Given the description of an element on the screen output the (x, y) to click on. 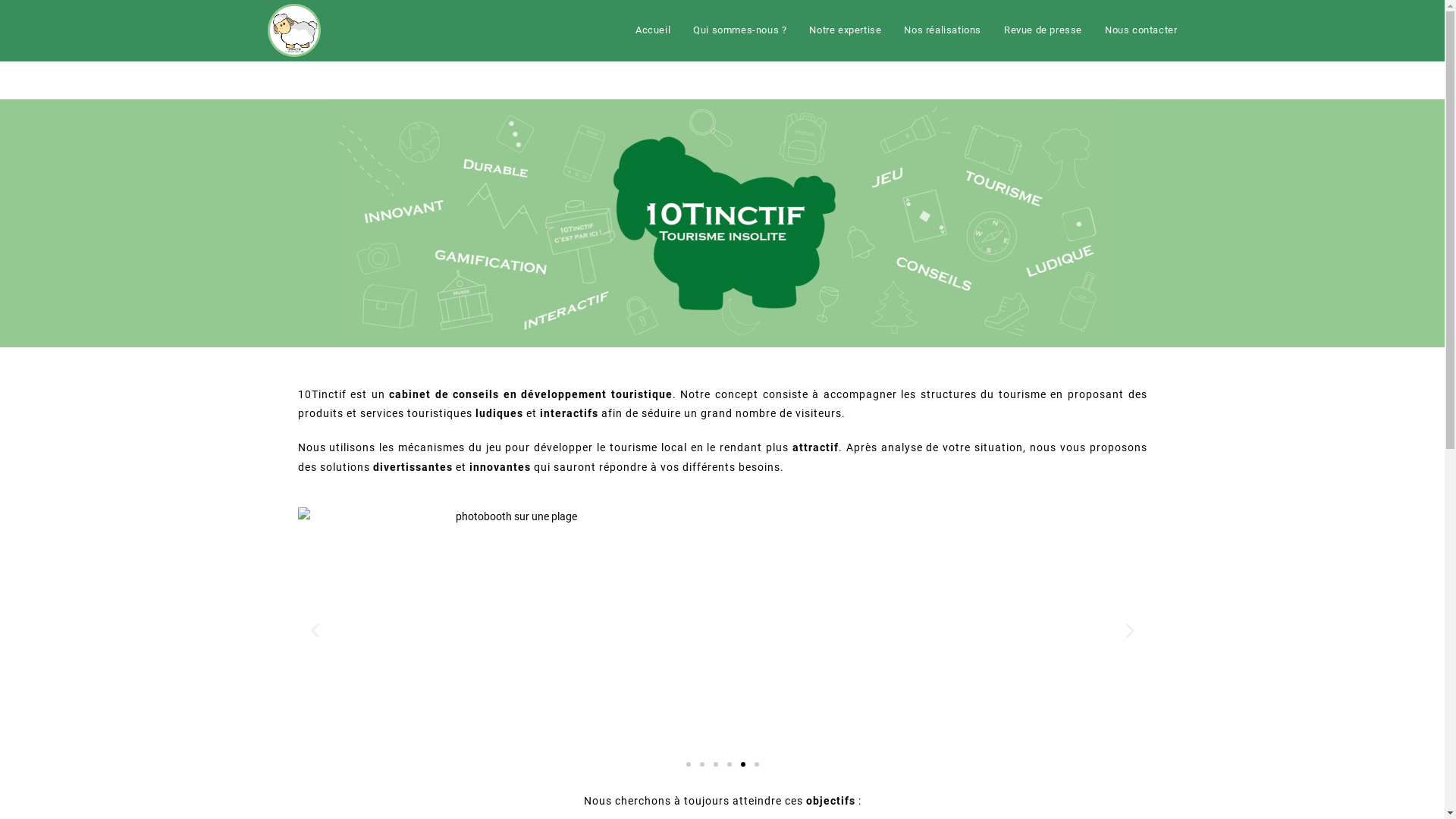
Accueil Element type: text (652, 30)
Revue de presse Element type: text (1042, 30)
Nous contacter Element type: text (1140, 30)
Qui sommes-nous ? Element type: text (739, 30)
Notre expertise Element type: text (844, 30)
